Given the description of an element on the screen output the (x, y) to click on. 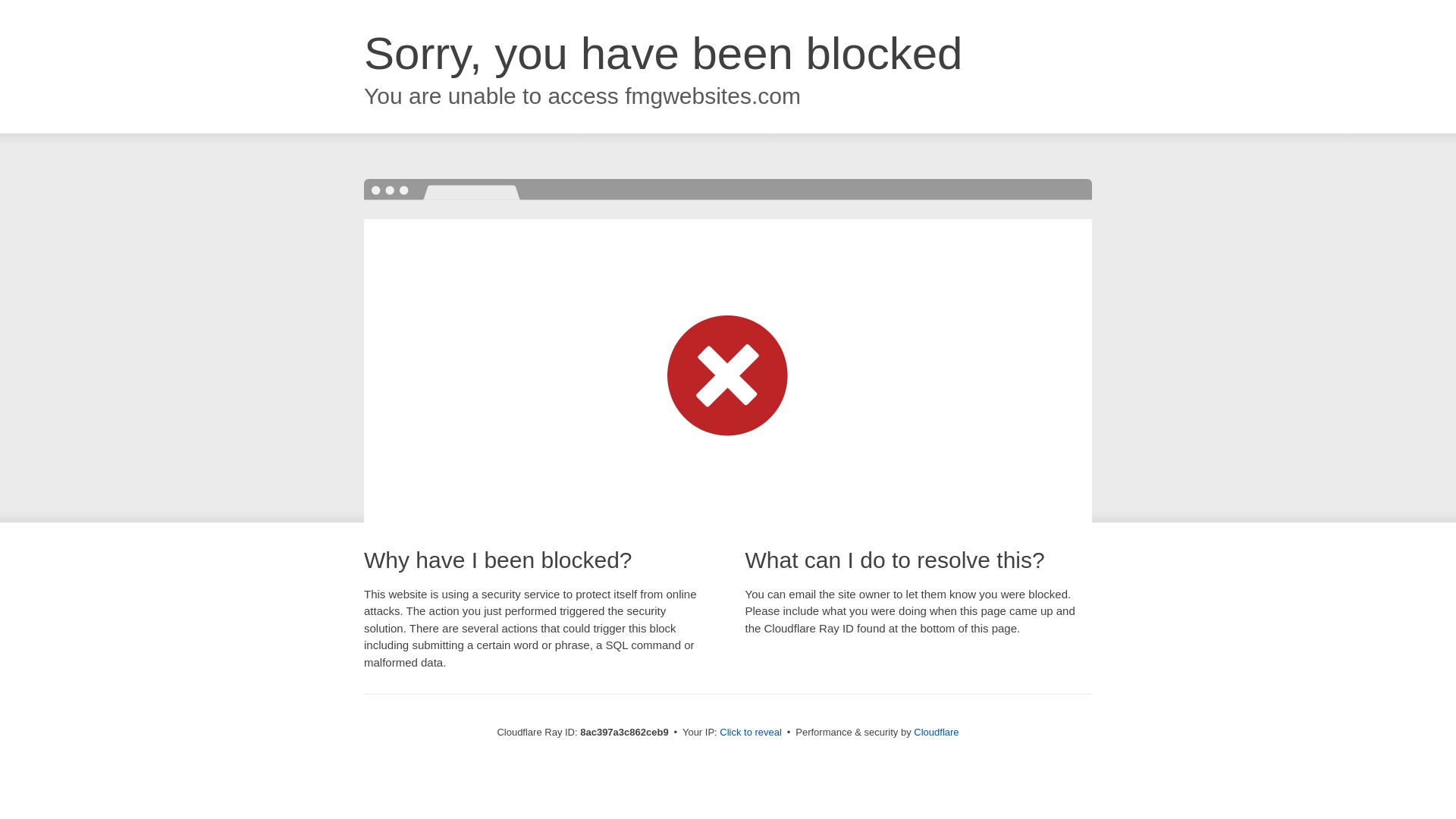
Click to reveal (750, 732)
Cloudflare (936, 731)
